Given the description of an element on the screen output the (x, y) to click on. 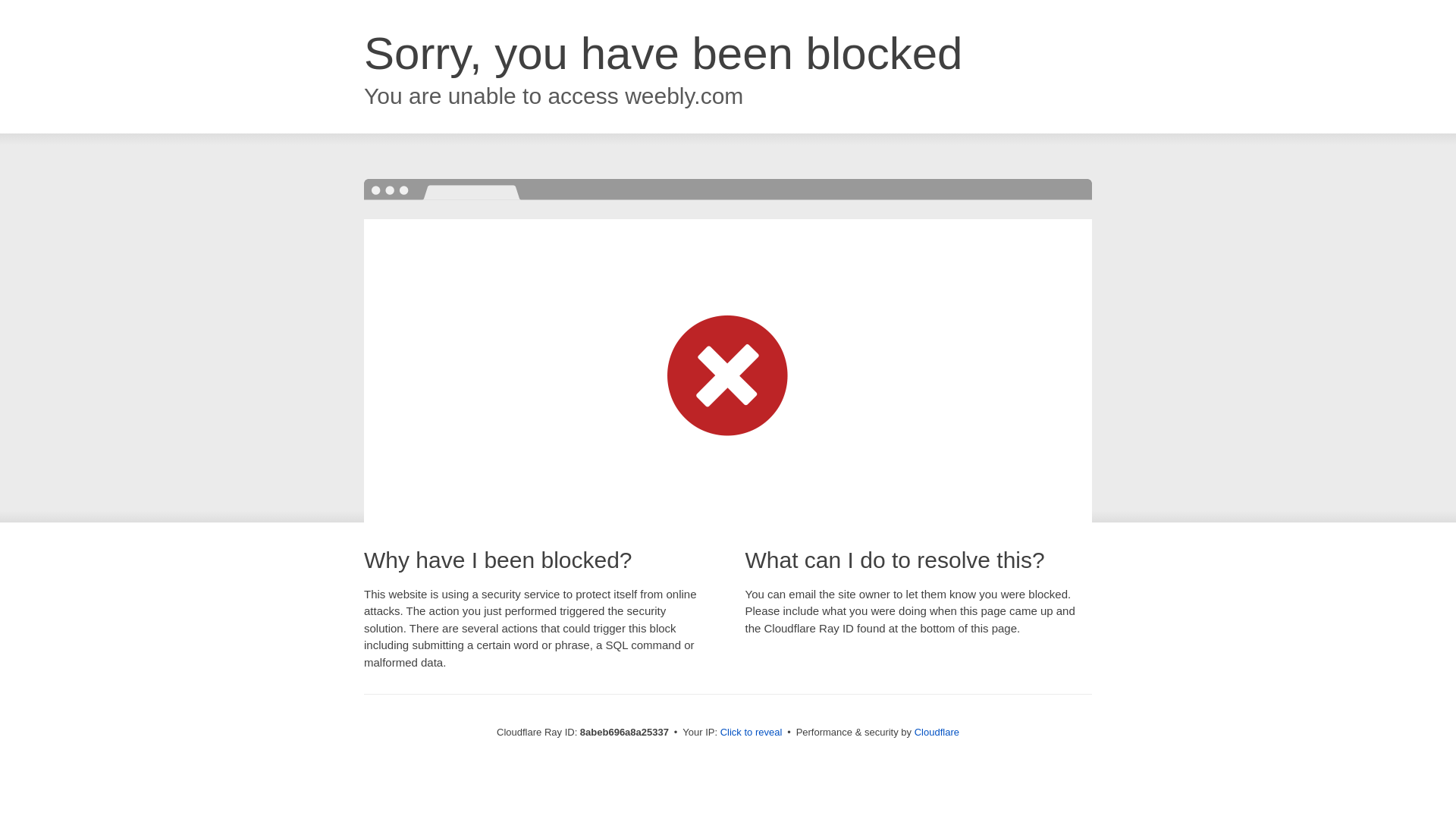
Cloudflare (936, 731)
Click to reveal (751, 732)
